Given the description of an element on the screen output the (x, y) to click on. 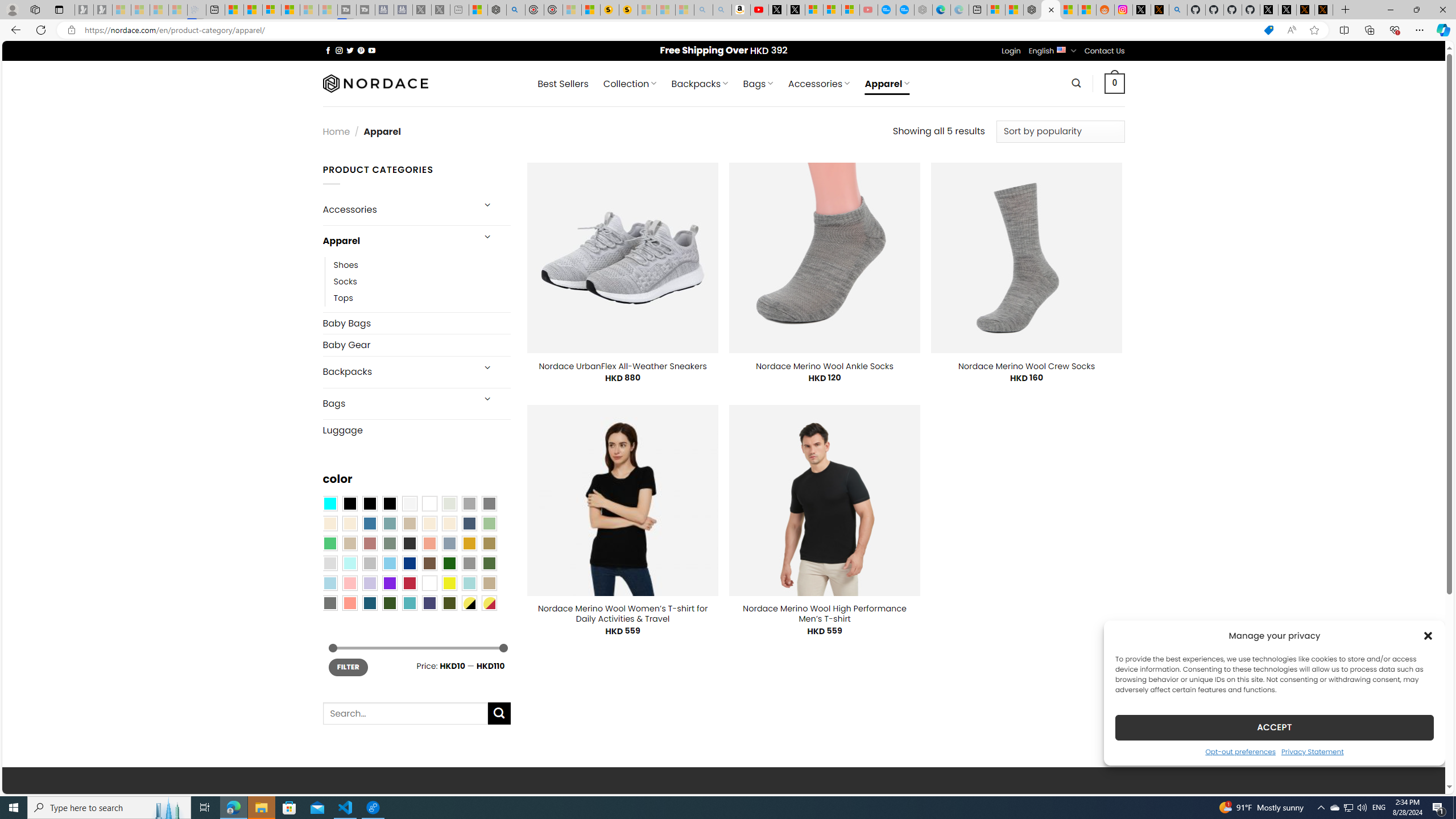
Baby Gear (416, 345)
Ash Gray (449, 503)
Kelp (488, 542)
Shoes (345, 264)
Light Gray (329, 562)
Shanghai, China Weather trends | Microsoft Weather (1086, 9)
Cream (449, 522)
Aqua Blue (329, 503)
